Given the description of an element on the screen output the (x, y) to click on. 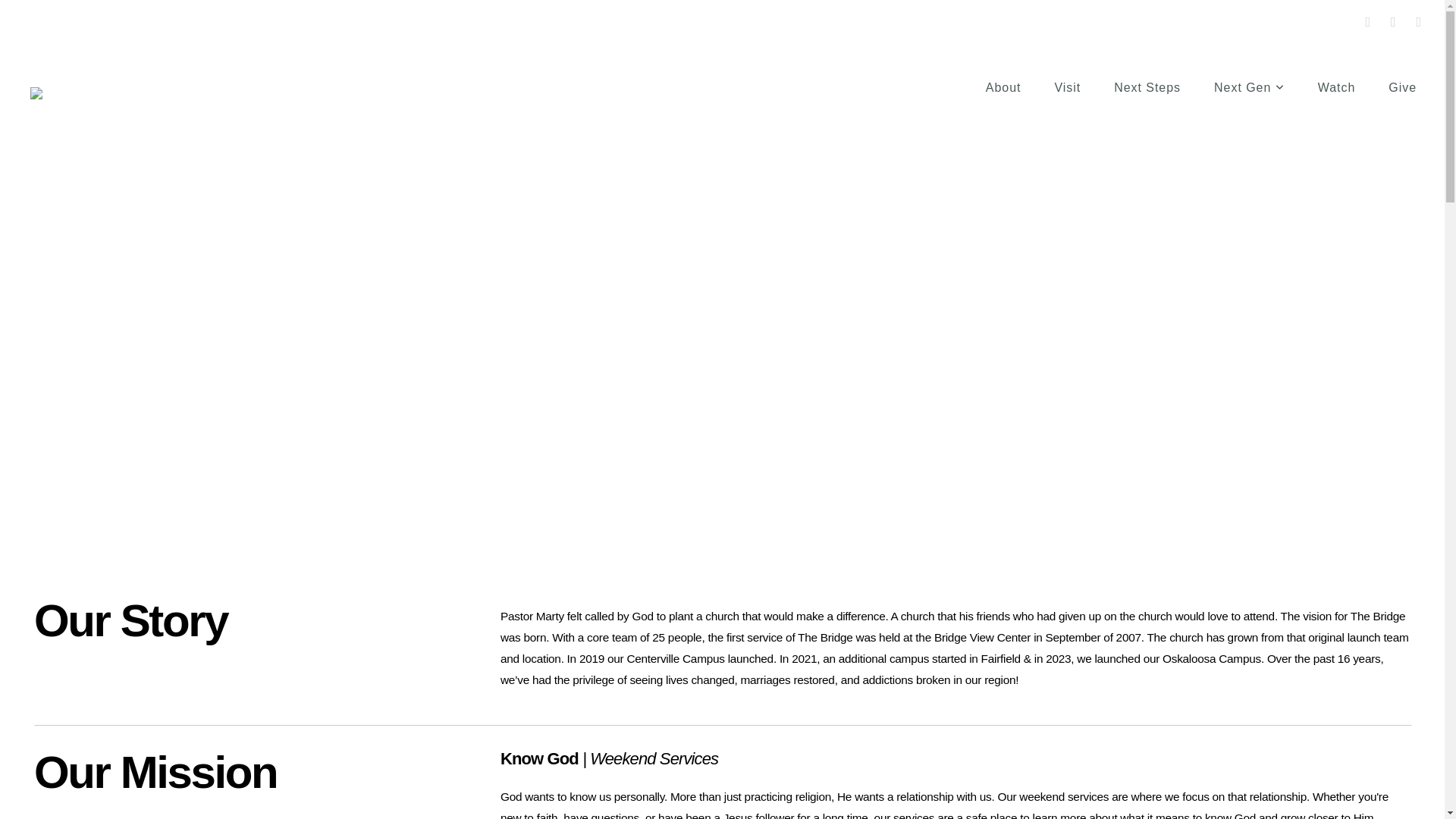
Next Steps Element type: text (1146, 87)
About Element type: text (1003, 87)
Watch Element type: text (1336, 87)
Give Element type: text (1402, 87)
Next Gen  Element type: text (1248, 87)
Visit Element type: text (1066, 87)
